Given the description of an element on the screen output the (x, y) to click on. 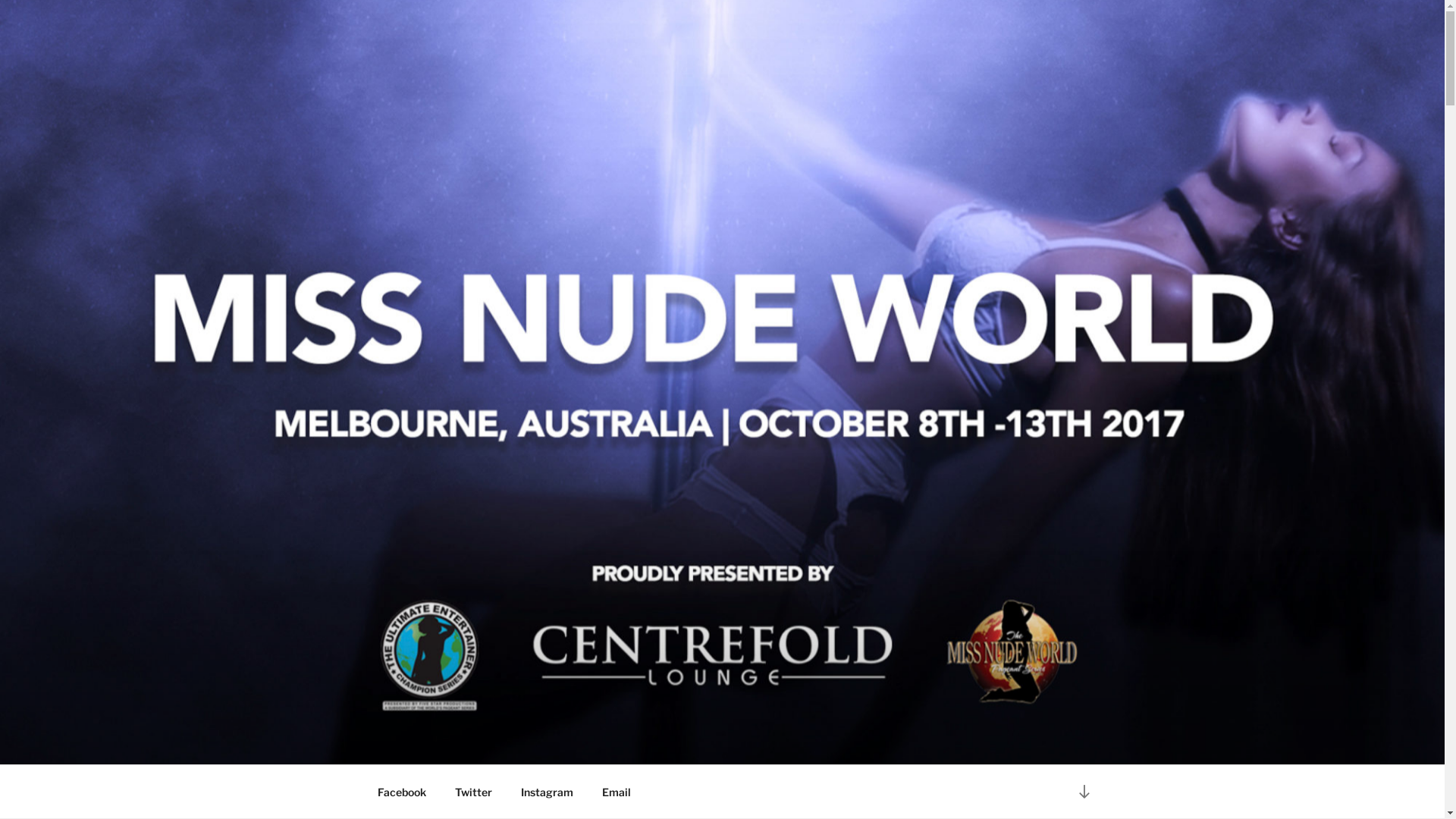
Email Element type: text (615, 791)
Facebook Element type: text (401, 791)
Instagram Element type: text (547, 791)
MISS NUDE WORLD Element type: text (529, 744)
Scroll down to content Element type: text (1083, 790)
Twitter Element type: text (473, 791)
